Given the description of an element on the screen output the (x, y) to click on. 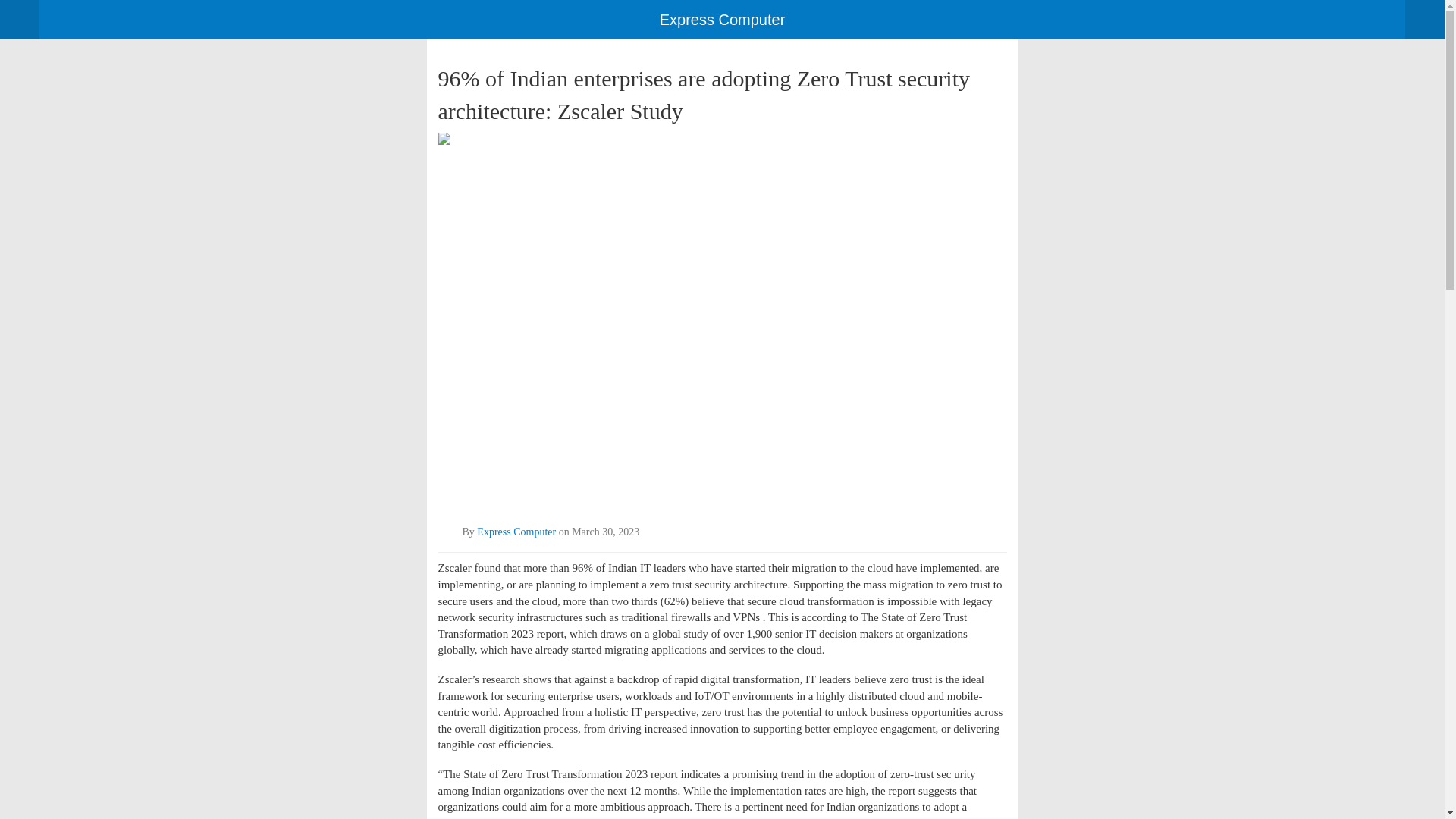
Express Computer (516, 532)
